Given the description of an element on the screen output the (x, y) to click on. 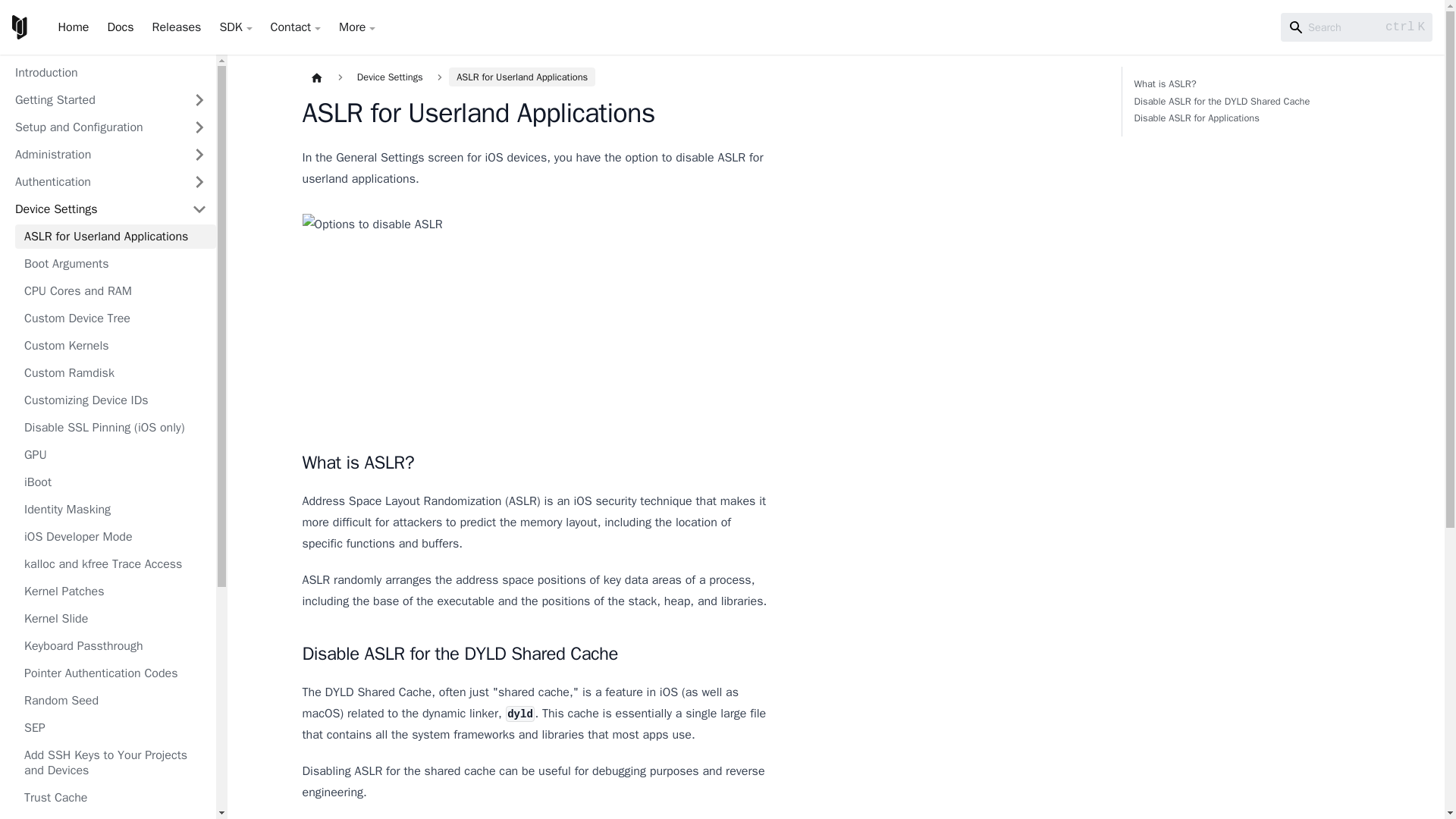
Home (72, 26)
Authentication (94, 181)
SDK (235, 27)
Setup and Configuration (94, 127)
Device Settings (94, 209)
Docs (119, 26)
Administration (94, 154)
ASLR for Userland Applications (114, 236)
More (357, 27)
